Given the description of an element on the screen output the (x, y) to click on. 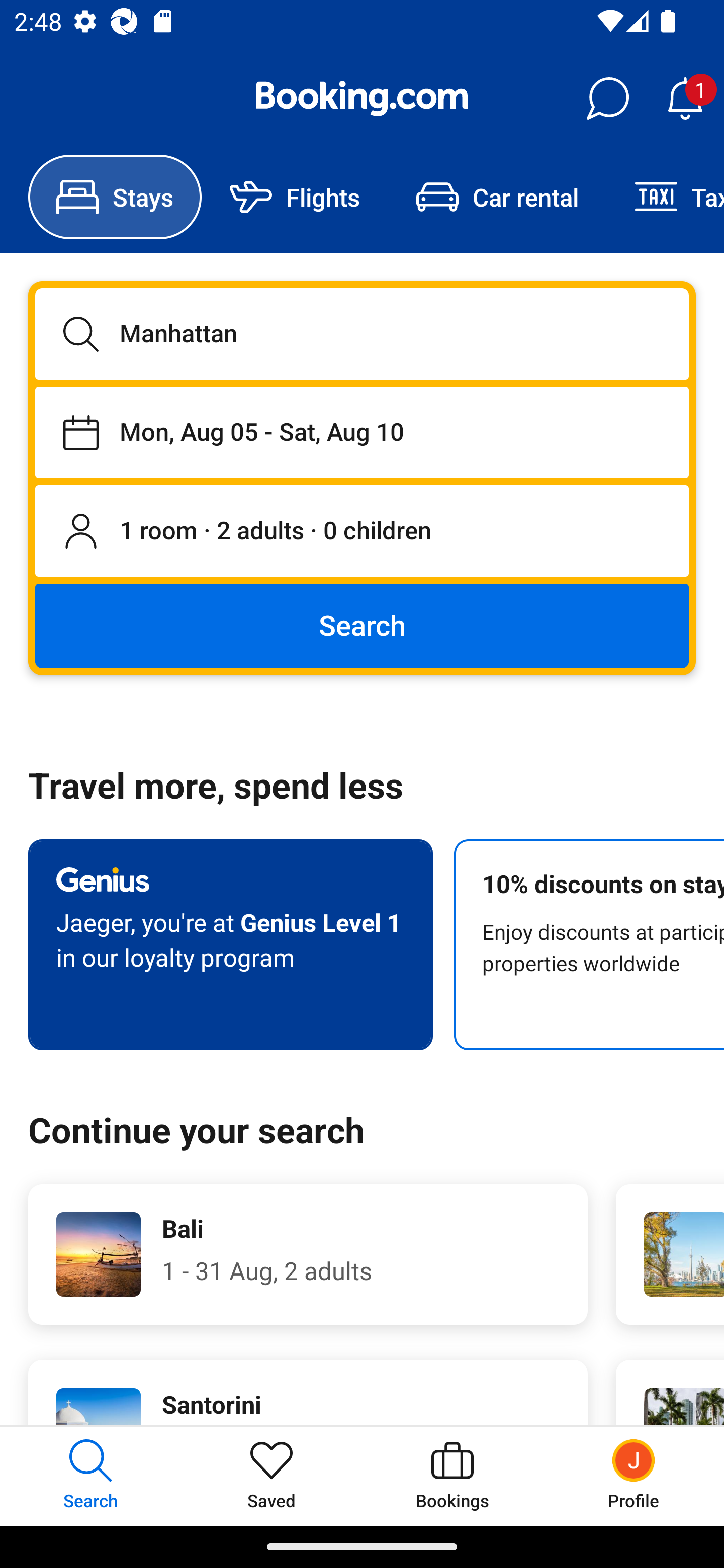
Messages (607, 98)
Notifications (685, 98)
Stays (114, 197)
Flights (294, 197)
Car rental (497, 197)
Taxi (665, 197)
Manhattan (361, 333)
Staying from Mon, Aug 05 until Sat, Aug 10 (361, 432)
1 room, 2 adults, 0 children (361, 531)
Search (361, 625)
Bali 1 - 31 Aug, 2 adults (307, 1253)
Saved (271, 1475)
Bookings (452, 1475)
Profile (633, 1475)
